Given the description of an element on the screen output the (x, y) to click on. 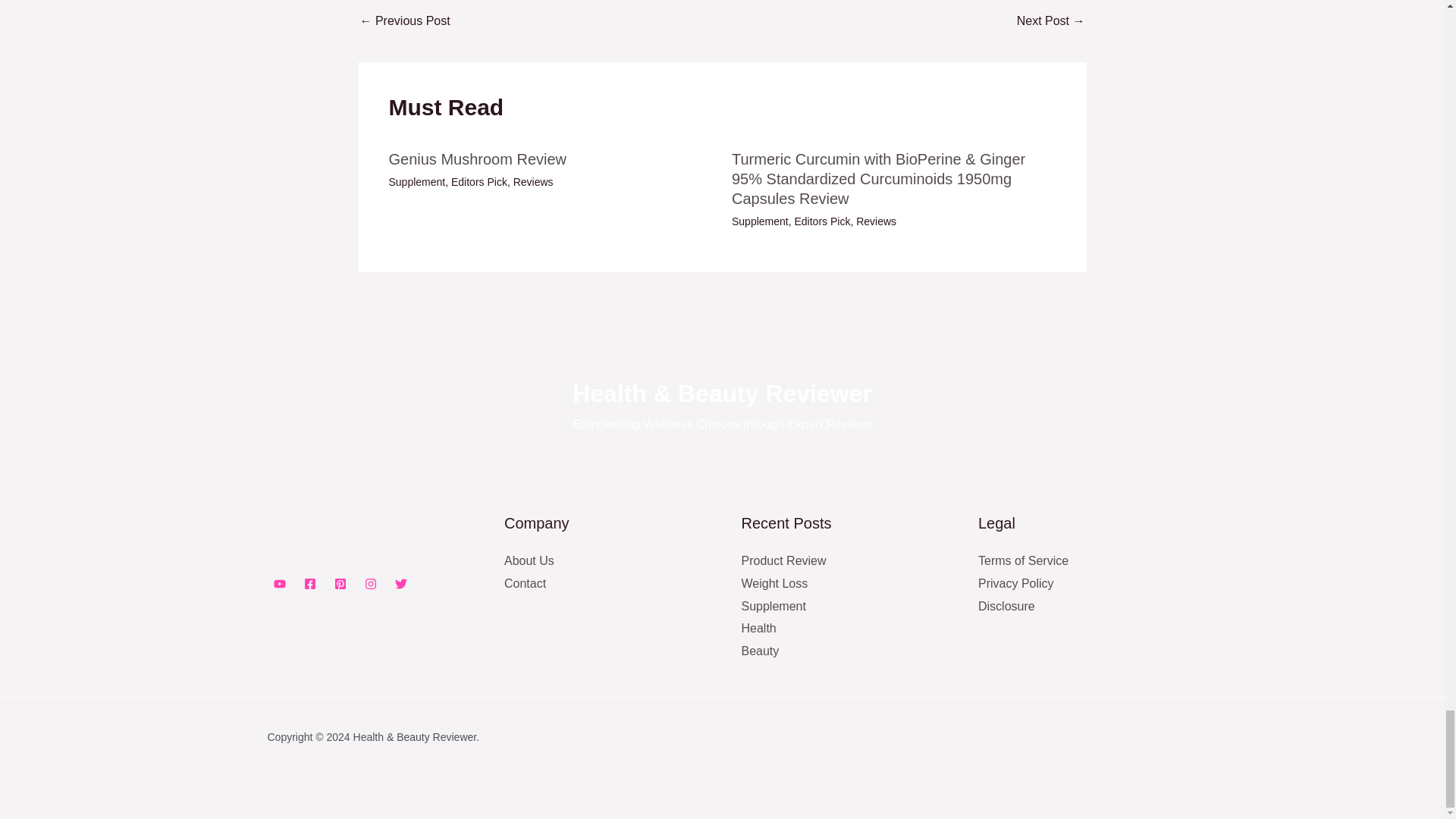
Men's Grooming Essentials: Your Ultimate Guide for 2023 (1050, 22)
Nail Art and Care: Your Ultimate Guide for Beautiful Nails (404, 22)
